Given the description of an element on the screen output the (x, y) to click on. 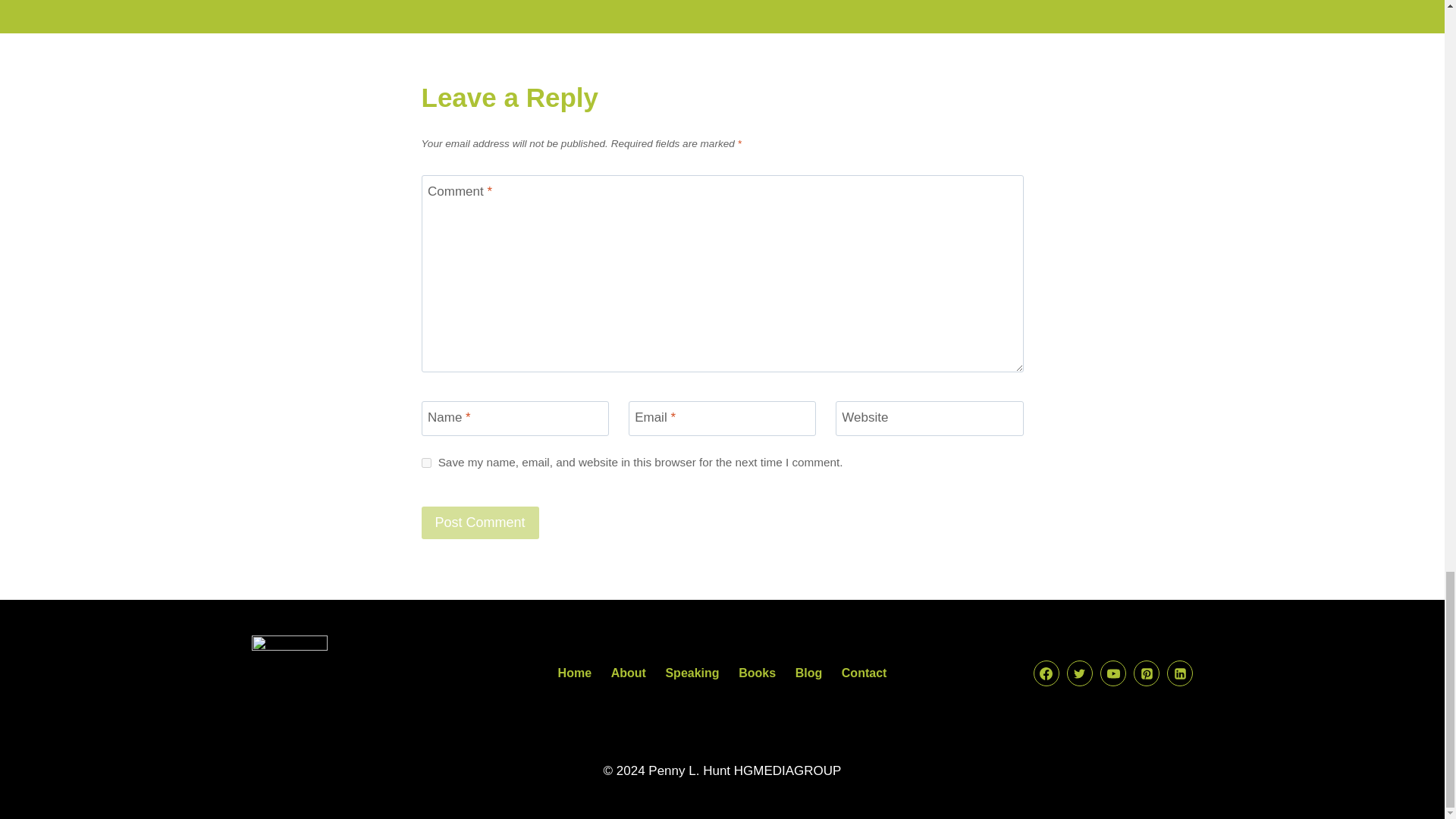
yes (426, 462)
Post Comment (480, 522)
